Given the description of an element on the screen output the (x, y) to click on. 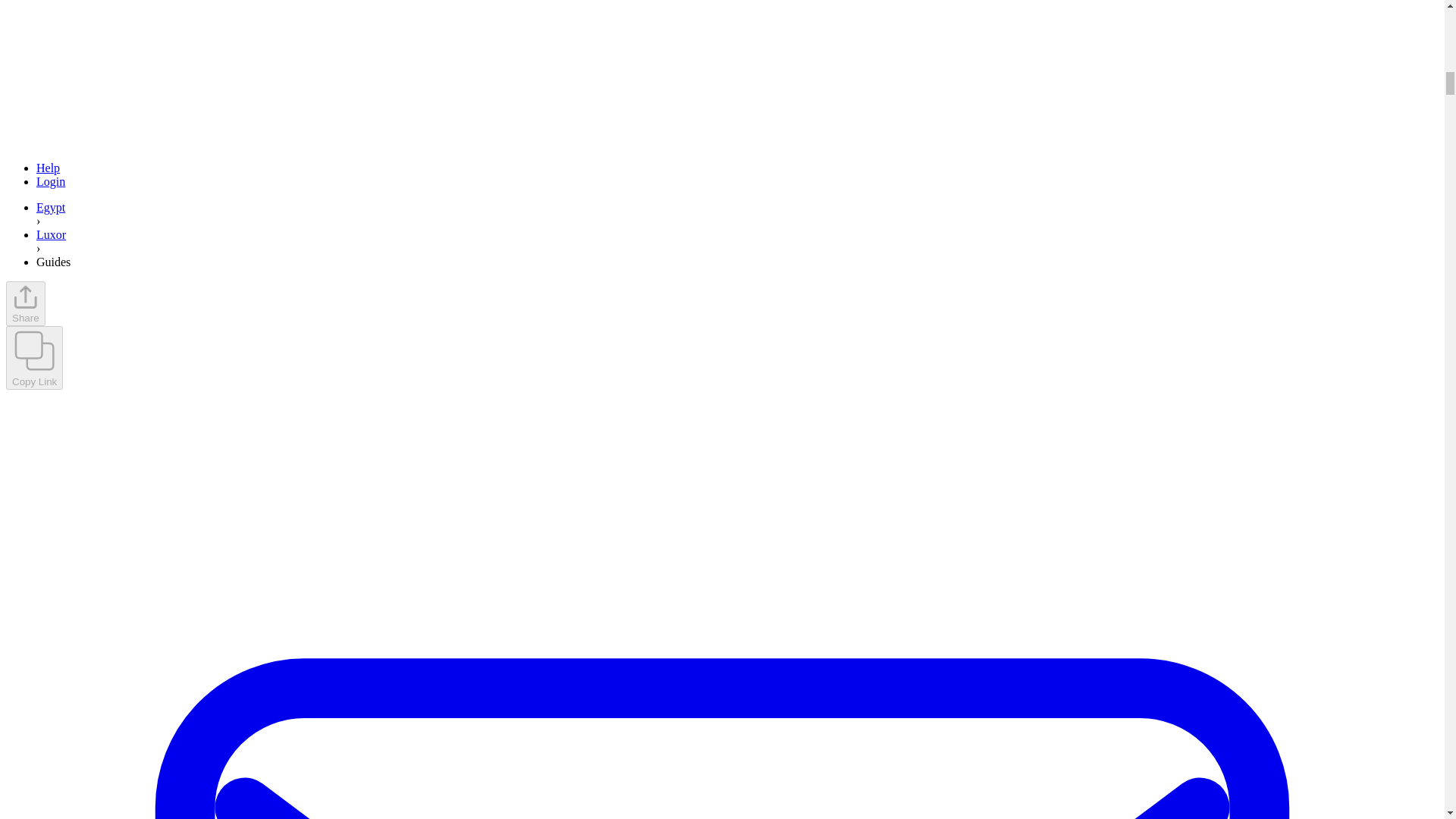
Help (47, 167)
Luxor (50, 234)
Login (50, 181)
GoWithGuide (25, 296)
GoWithGuide (33, 350)
Egypt (50, 206)
